Given the description of an element on the screen output the (x, y) to click on. 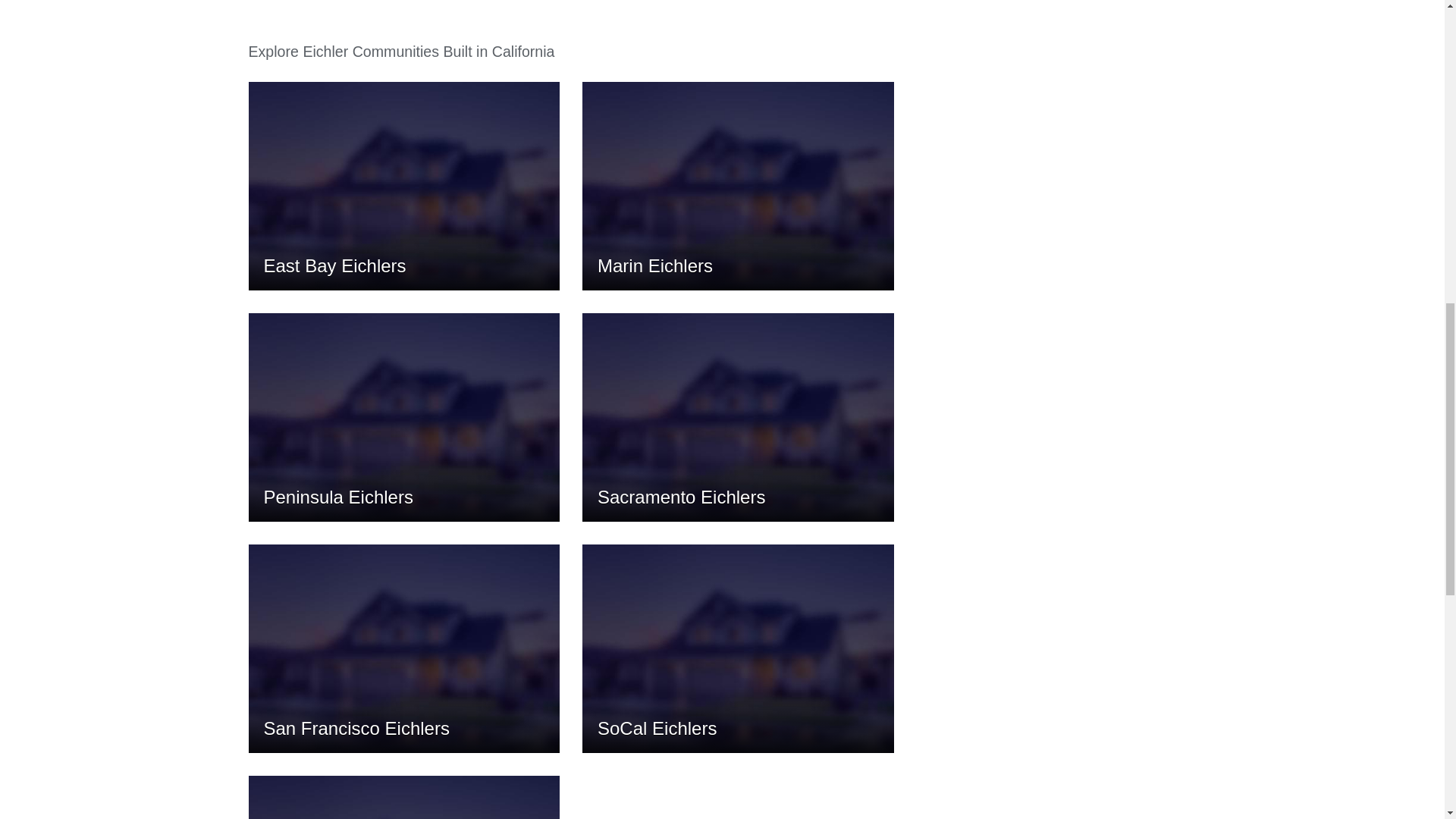
View East Bay Eichlers (404, 162)
View Marin Eichlers (737, 162)
View Sacramento Eichlers (737, 394)
View Peninsula Eichlers (404, 394)
View South Bay Eichlers (404, 785)
View San Francisco Eichlers (404, 625)
View SoCal Eichlers (737, 625)
